Given the description of an element on the screen output the (x, y) to click on. 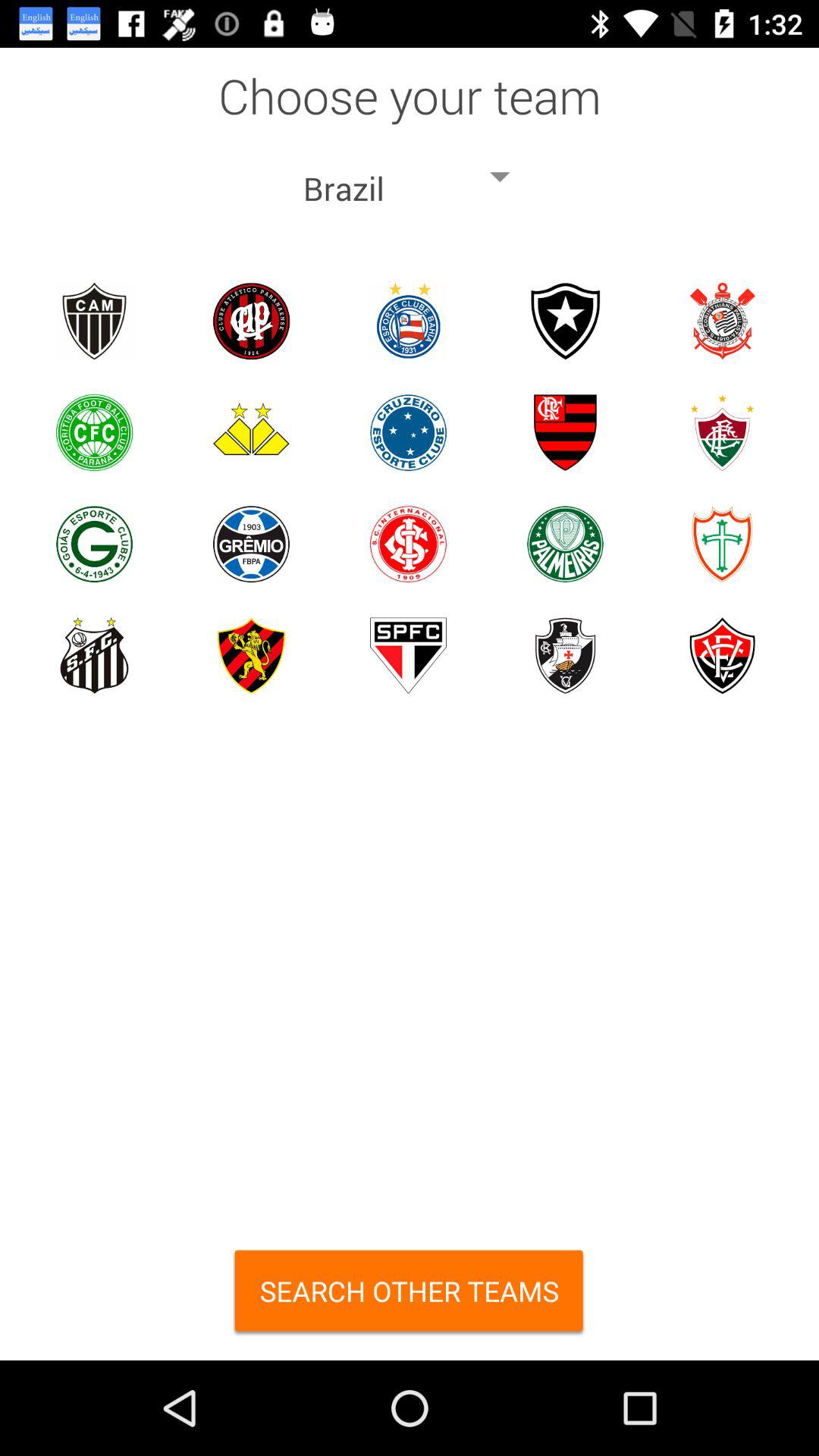
gremio team (251, 544)
